Given the description of an element on the screen output the (x, y) to click on. 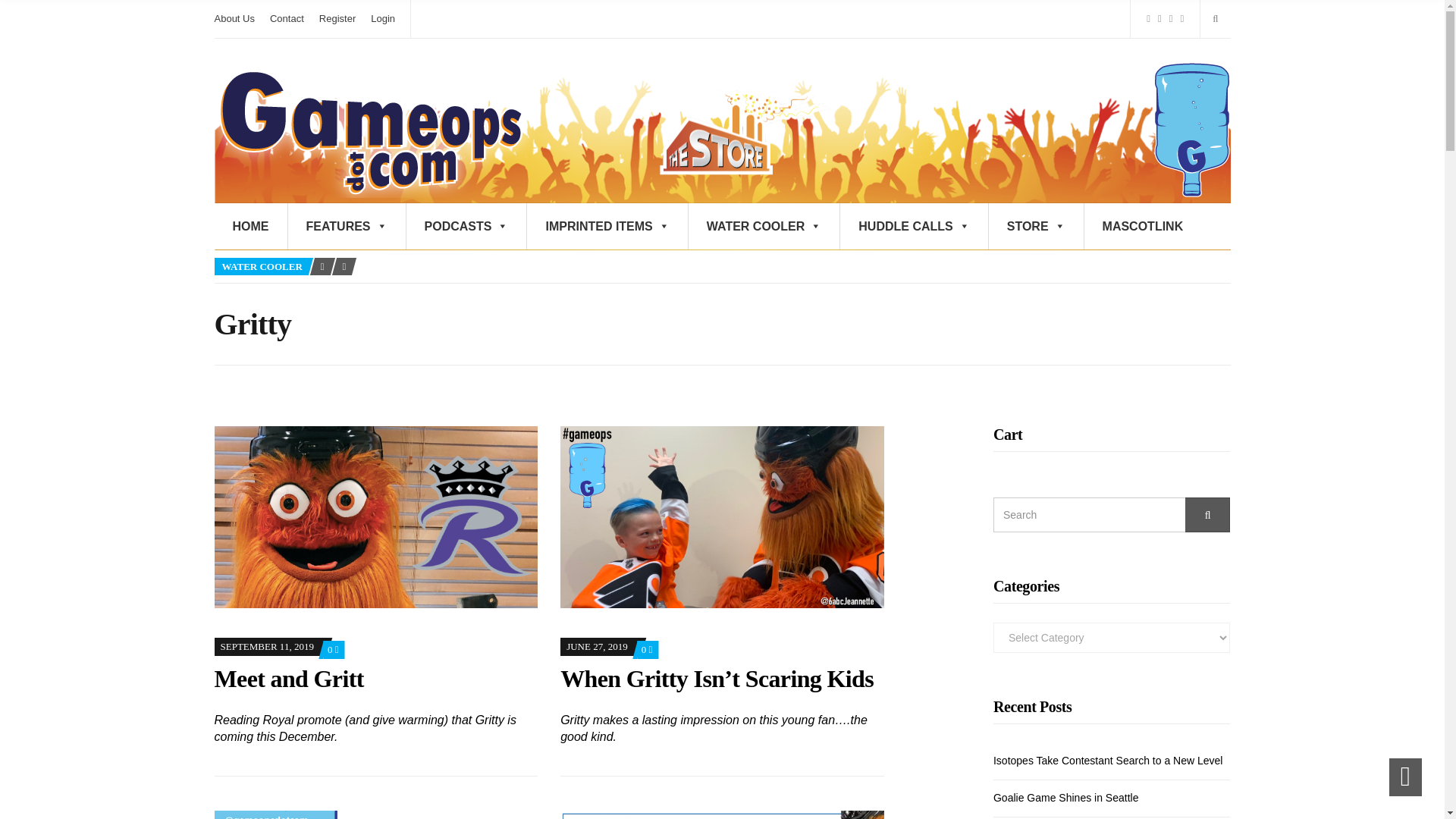
FEATURES (347, 226)
Water Cooler (1190, 128)
PODCASTS (466, 226)
The Store (740, 128)
Login (382, 18)
HOME (250, 226)
About Us (233, 18)
Register (336, 18)
Contact (286, 18)
